Given the description of an element on the screen output the (x, y) to click on. 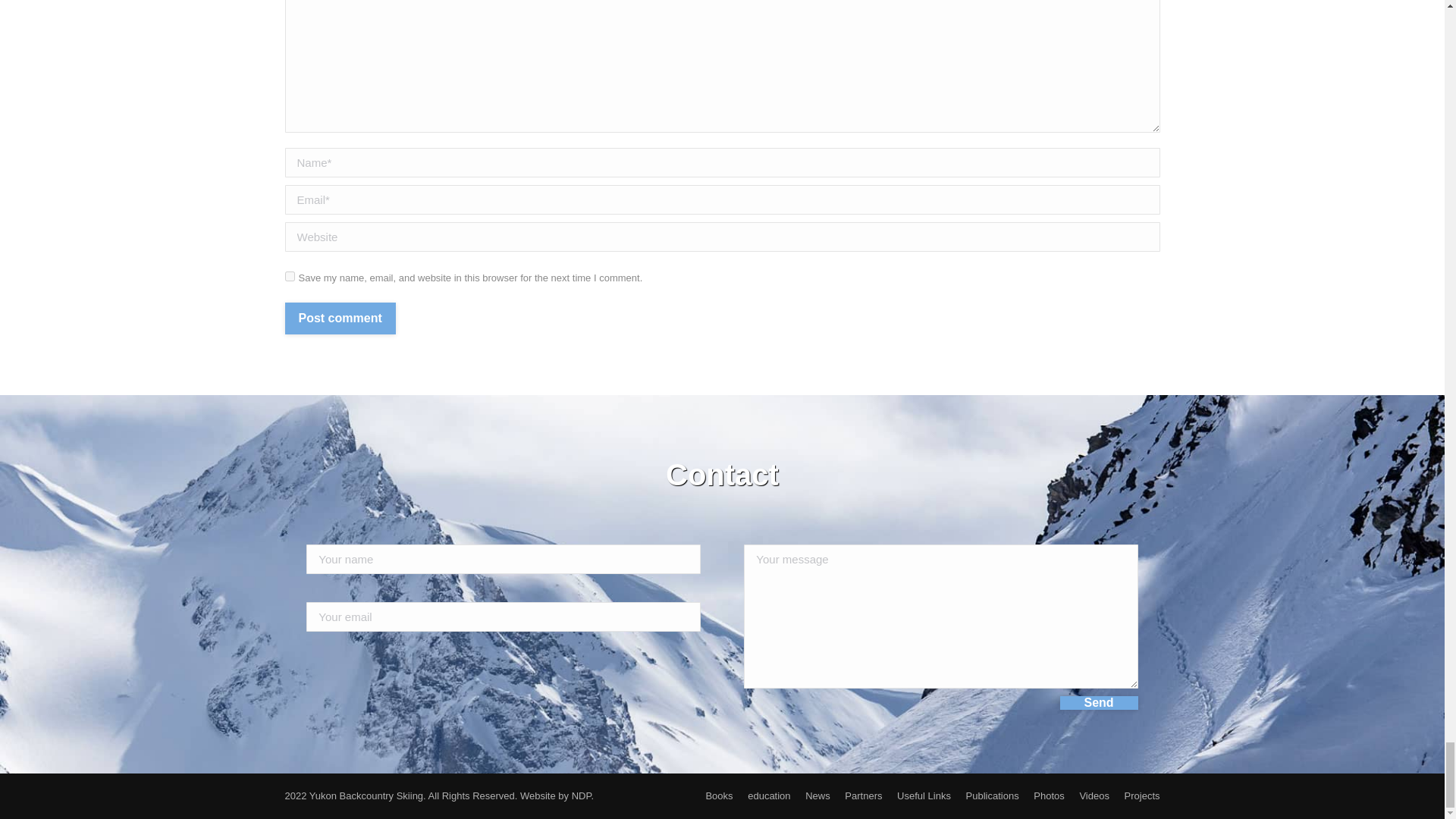
Send (1098, 703)
yes (290, 276)
